Given the description of an element on the screen output the (x, y) to click on. 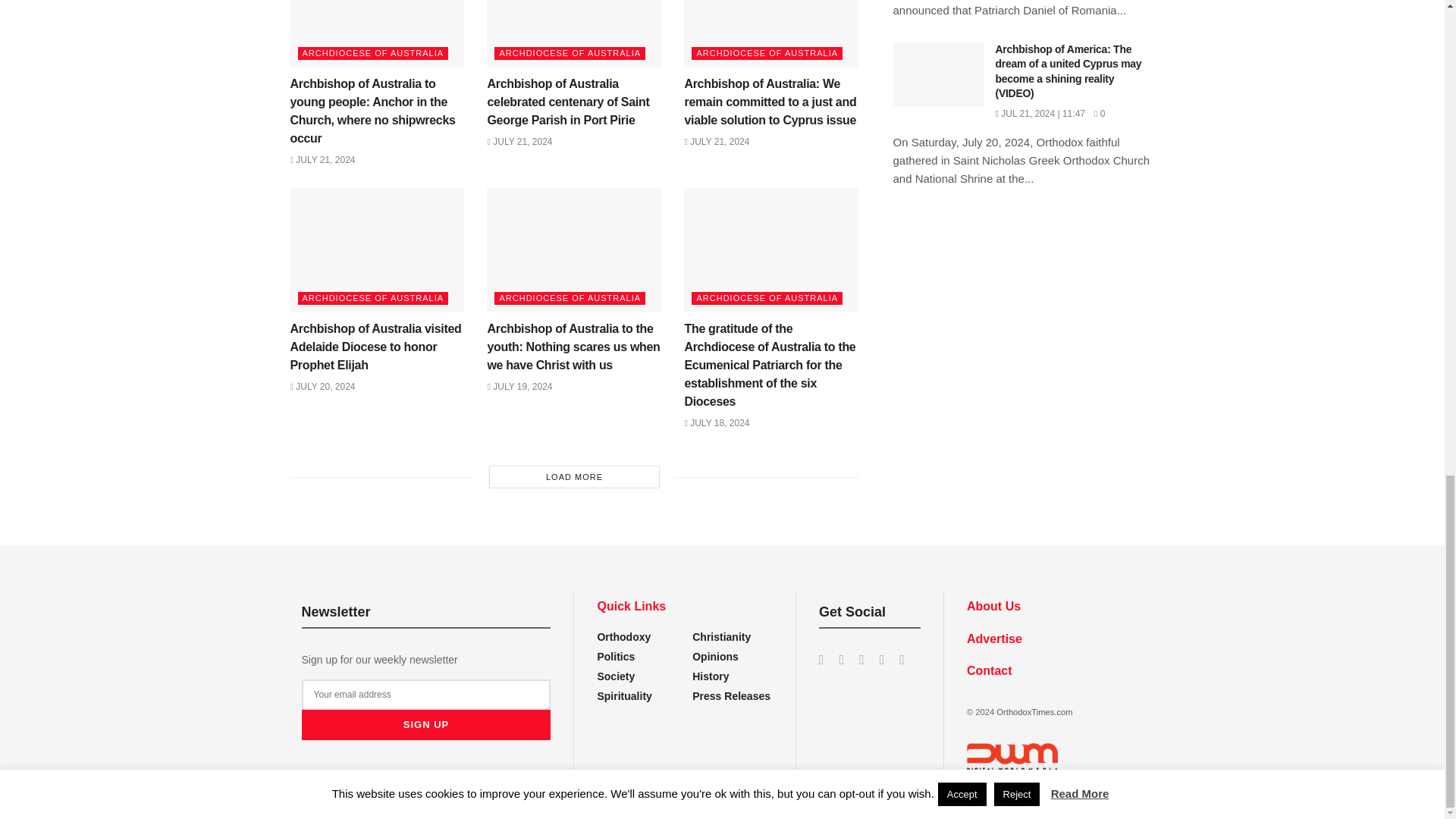
You can add some category description here. (711, 676)
You can add some category description here. (731, 695)
Sign up (426, 725)
OrthodoxTimes.com (1033, 711)
